Given the description of an element on the screen output the (x, y) to click on. 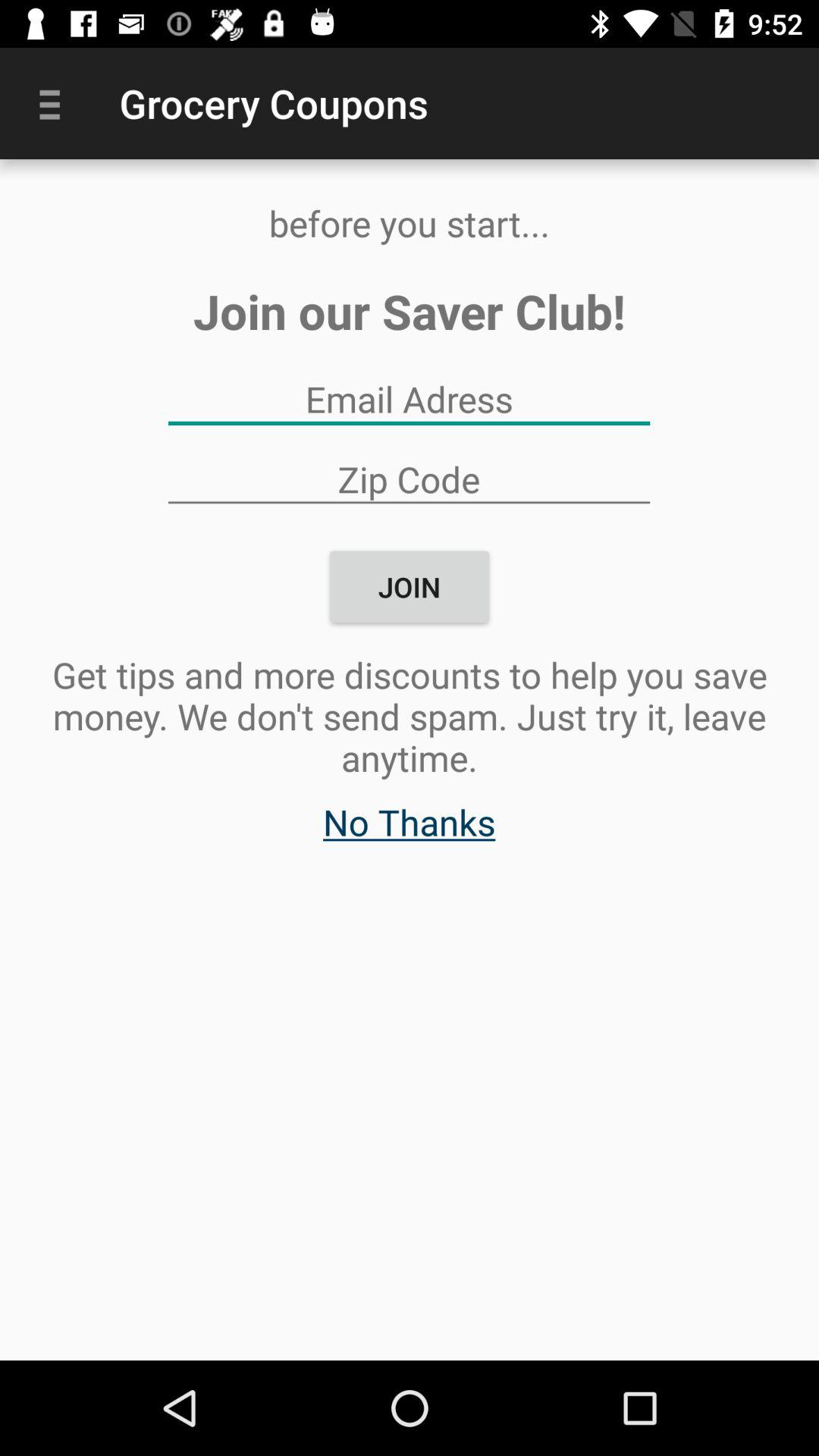
enter your email address (409, 398)
